Given the description of an element on the screen output the (x, y) to click on. 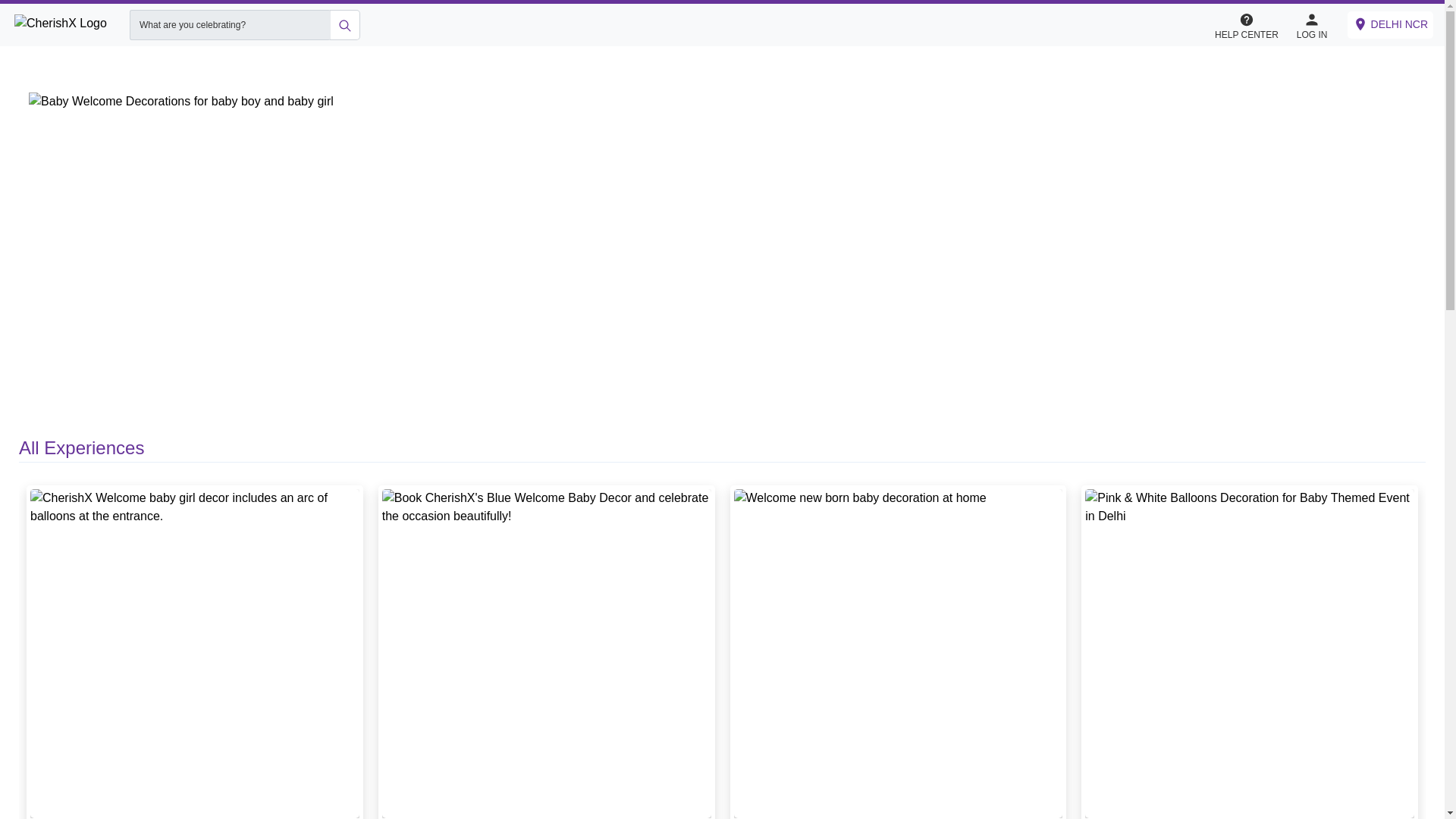
HELP CENTER (1253, 25)
HELP CENTER (1245, 24)
What are you celebrating? (229, 24)
DELHI NCR (1390, 24)
What are you celebrating? (229, 24)
LOG IN (1312, 24)
